Given the description of an element on the screen output the (x, y) to click on. 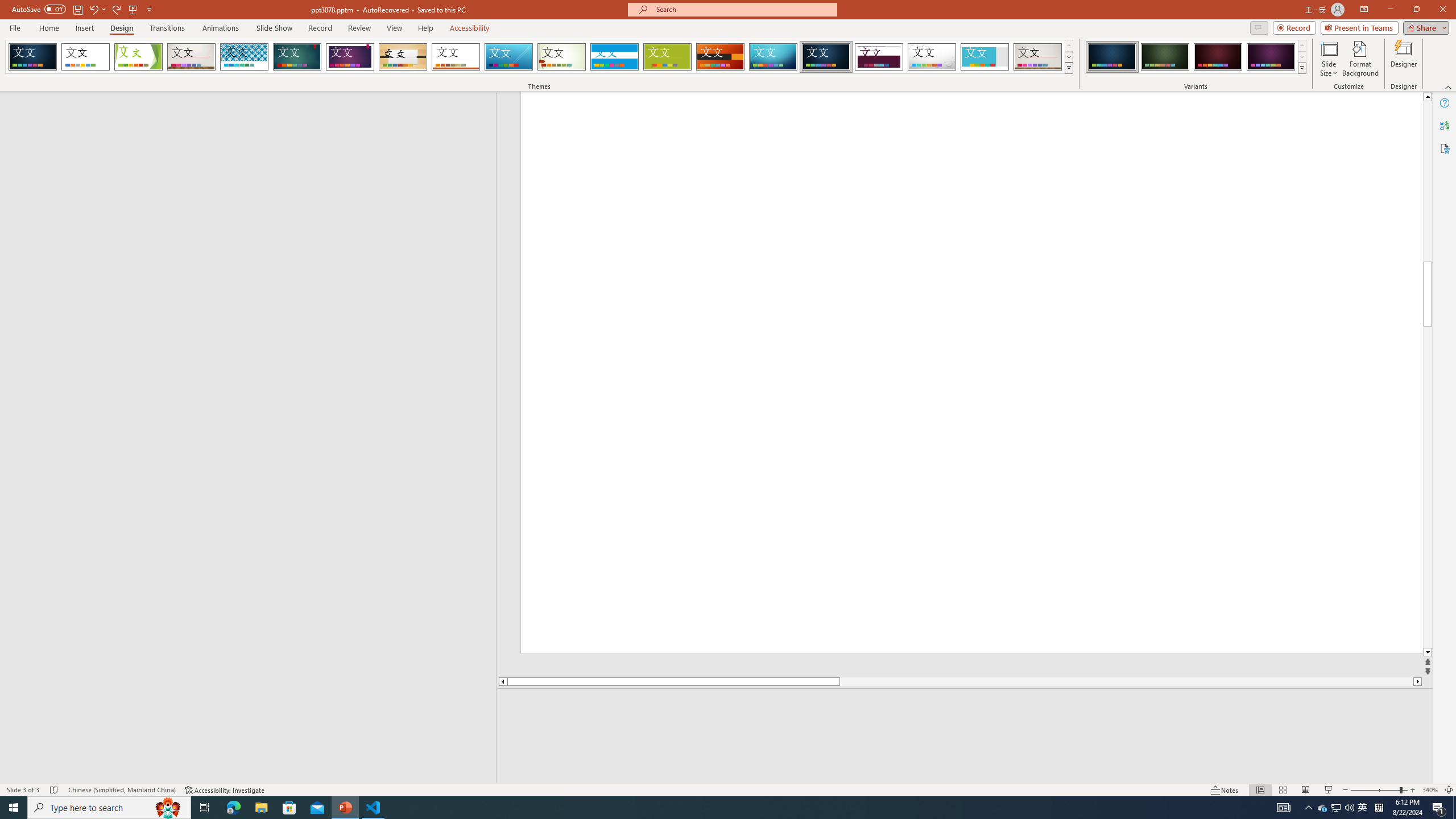
Damask Variant 2 (1164, 56)
AutomationID: ThemeVariantsGallery (1195, 56)
Circuit (772, 56)
Ion (296, 56)
AutomationID: SlideThemesGallery (539, 56)
Wisp (561, 56)
